Given the description of an element on the screen output the (x, y) to click on. 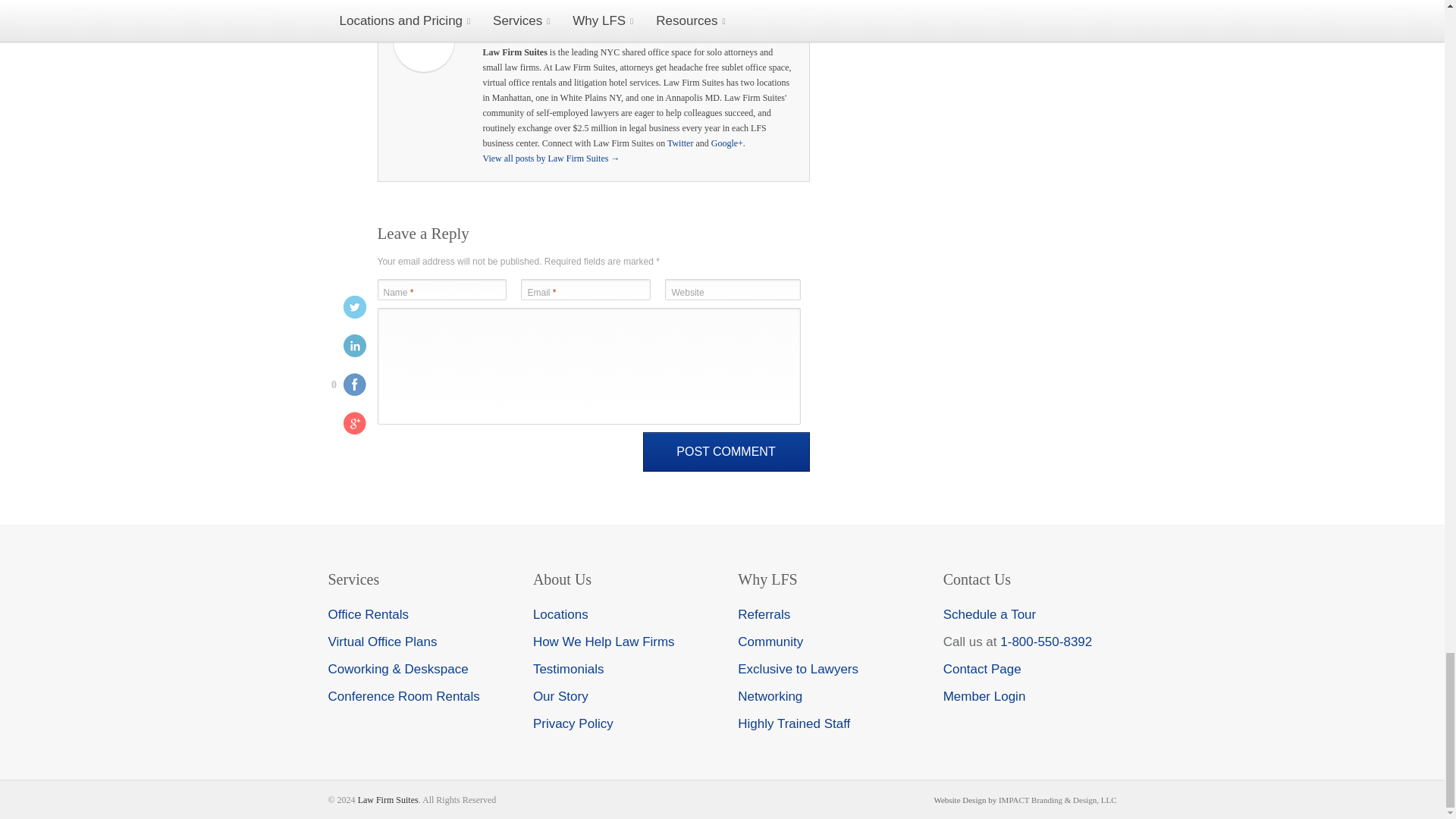
Post Comment (726, 451)
